Given the description of an element on the screen output the (x, y) to click on. 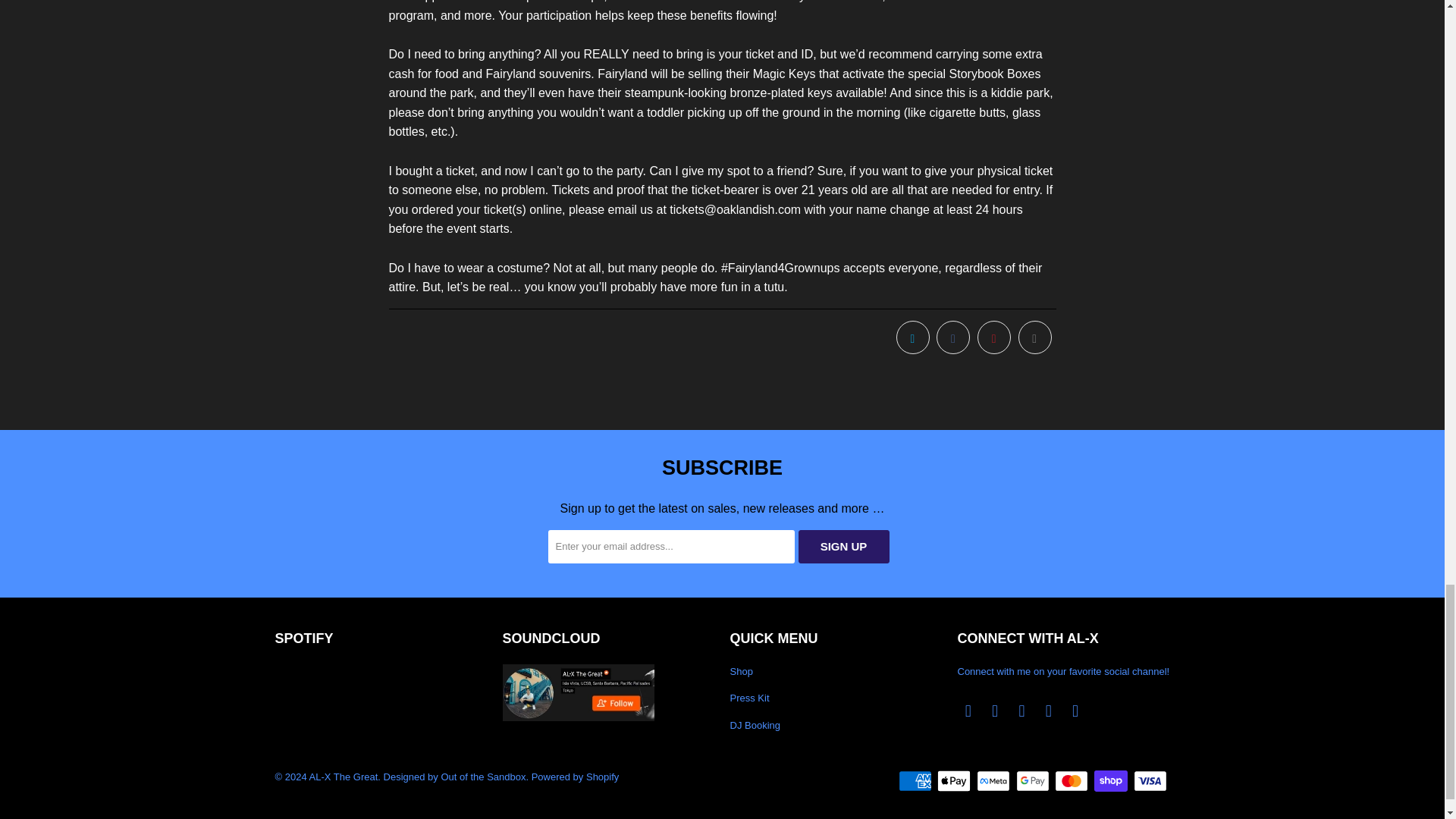
Share this on Pinterest (993, 337)
AL-X The Great on Twitter (967, 710)
Meta Pay (994, 780)
Press Kit (748, 697)
Share this on Facebook (952, 337)
Mastercard (1072, 780)
Email this to a friend (1034, 337)
Sign Up (842, 546)
American Express (916, 780)
Visa (1150, 780)
